Given the description of an element on the screen output the (x, y) to click on. 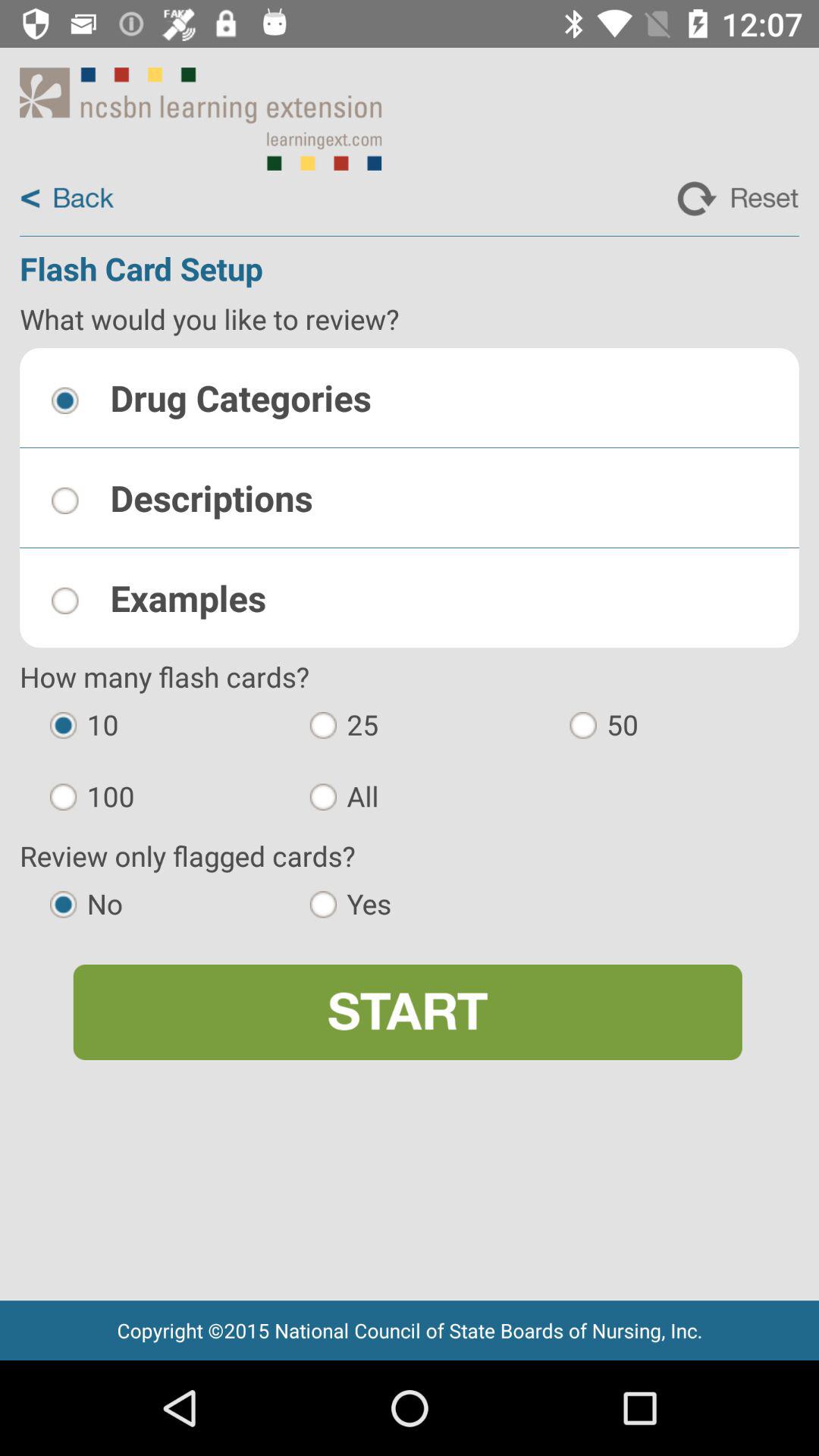
reset flash card setup (738, 198)
